Given the description of an element on the screen output the (x, y) to click on. 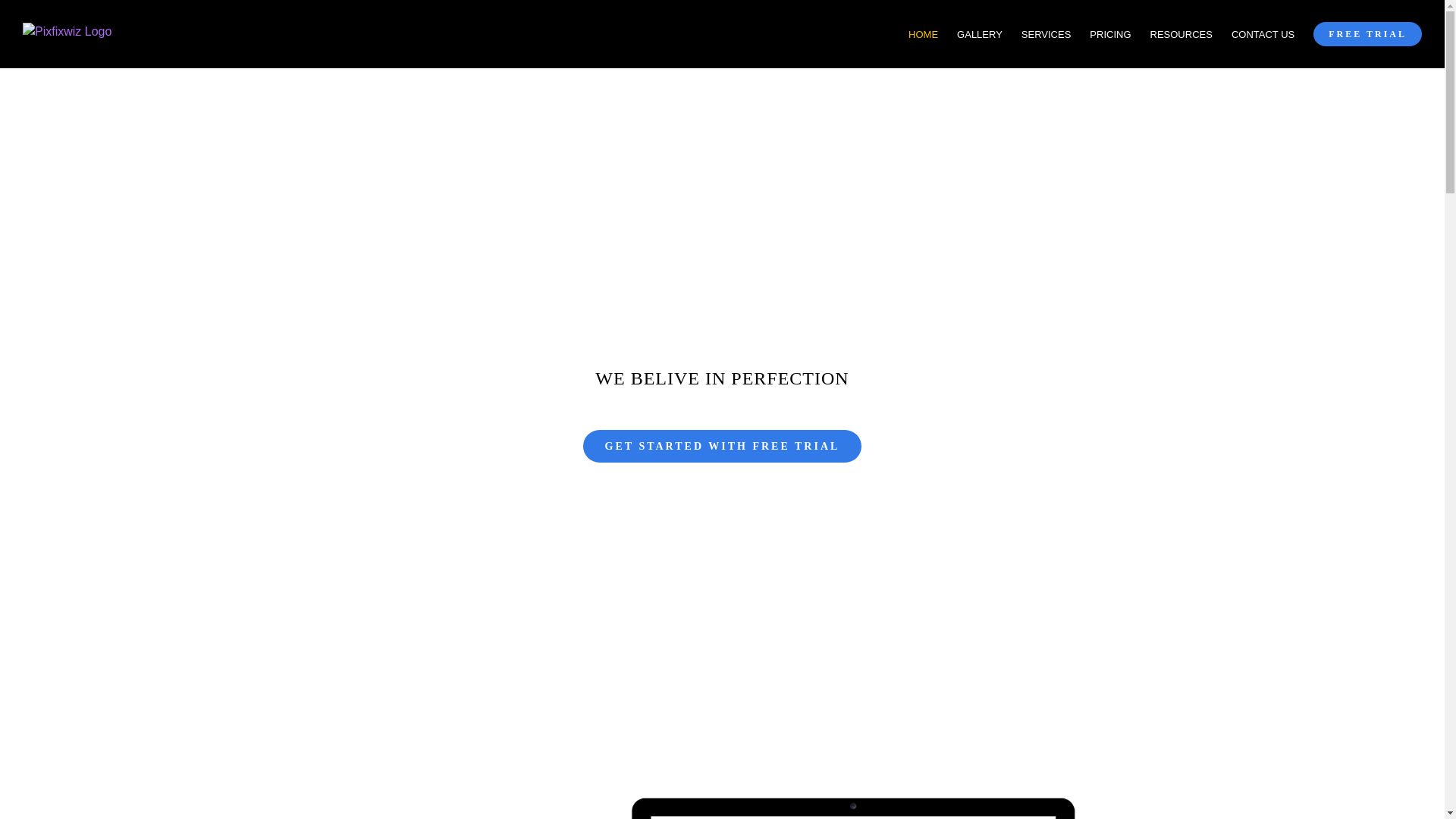
Ecommerce Image Editing 2 (721, 795)
CONTACT US (1262, 33)
GET STARTED WITH FREE TRIAL (722, 445)
RESOURCES (1181, 33)
FREE TRIAL (1367, 33)
